Given the description of an element on the screen output the (x, y) to click on. 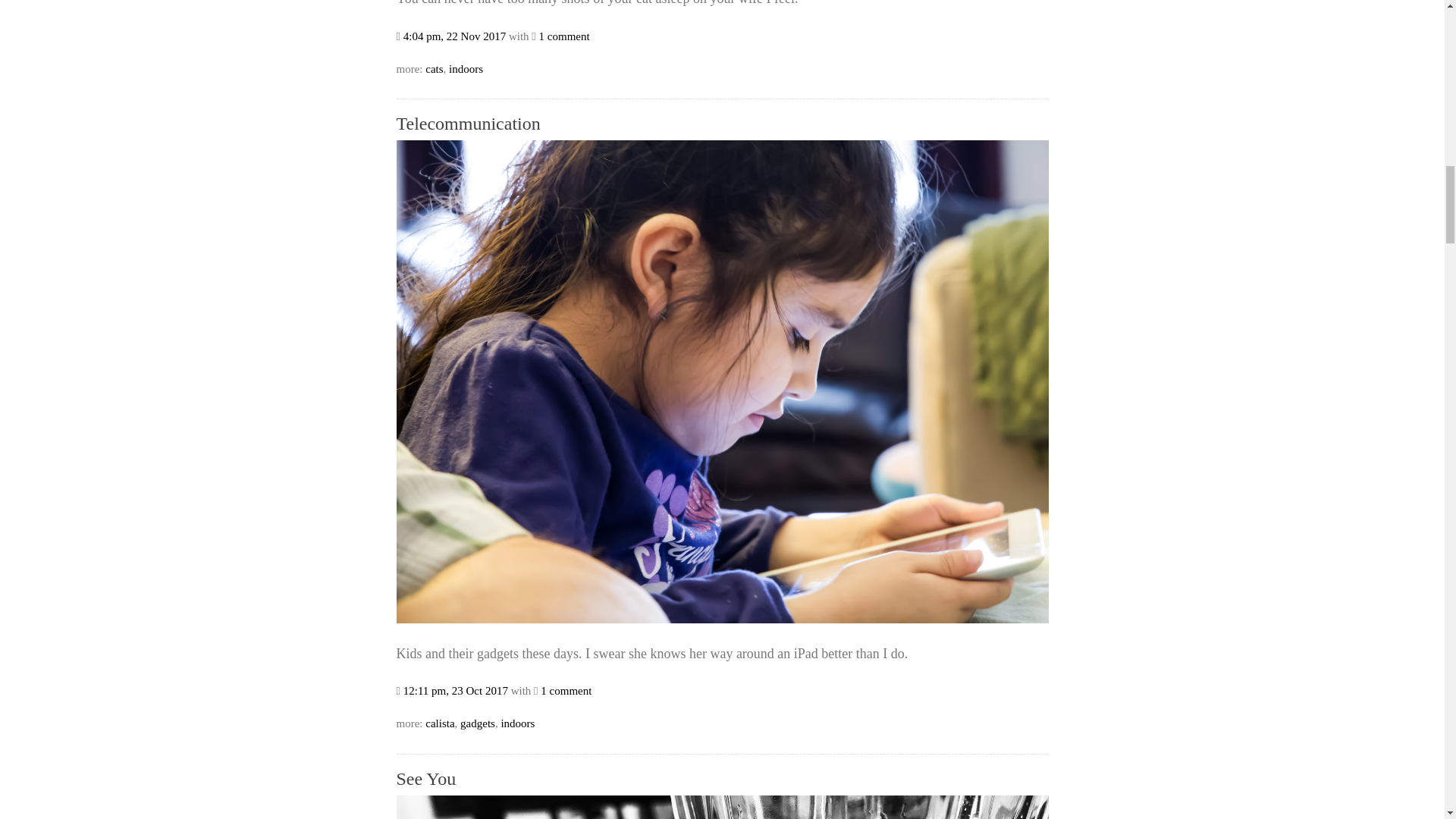
Telecommunication (468, 123)
See You (425, 778)
Permanent Link to Little Girl You've Had A Busy Day (454, 36)
Permanent Link to Telecommunication (455, 690)
calista (439, 723)
12:11 pm, 23 Oct 2017 (455, 690)
See You (425, 778)
indoors (465, 69)
1 comment (565, 690)
cats (433, 69)
Telecommunication (722, 618)
4:04 pm, 22 Nov 2017 (454, 36)
Telecommunication (468, 123)
indoors (517, 723)
1 comment (563, 36)
